Given the description of an element on the screen output the (x, y) to click on. 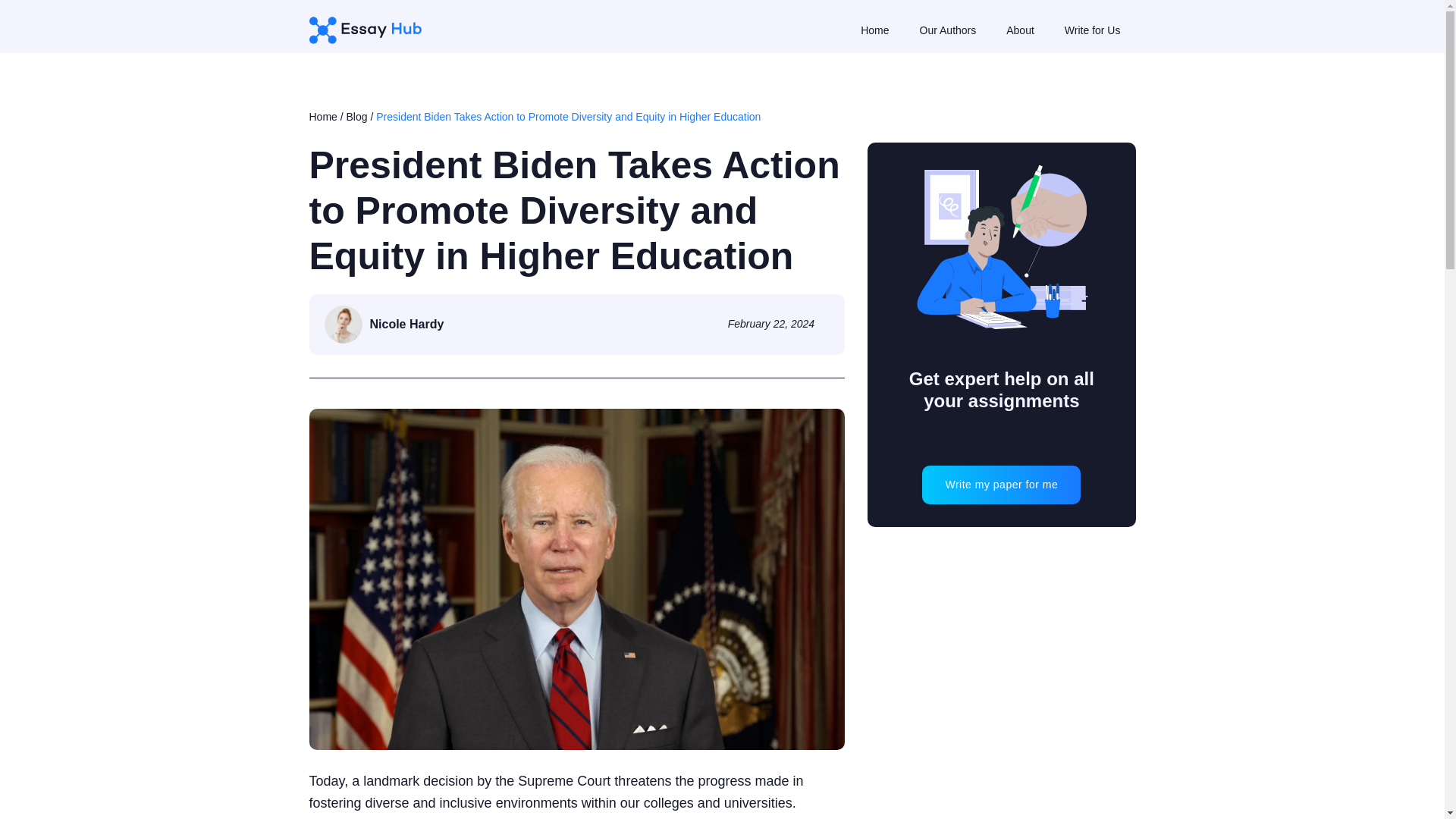
Write for Us (1092, 30)
About (1019, 30)
Nicole Hardy (384, 324)
Home (874, 30)
EssayHub (370, 30)
Home (322, 116)
Our Authors (948, 30)
Blog (357, 116)
Write my paper for me (1000, 485)
